Given the description of an element on the screen output the (x, y) to click on. 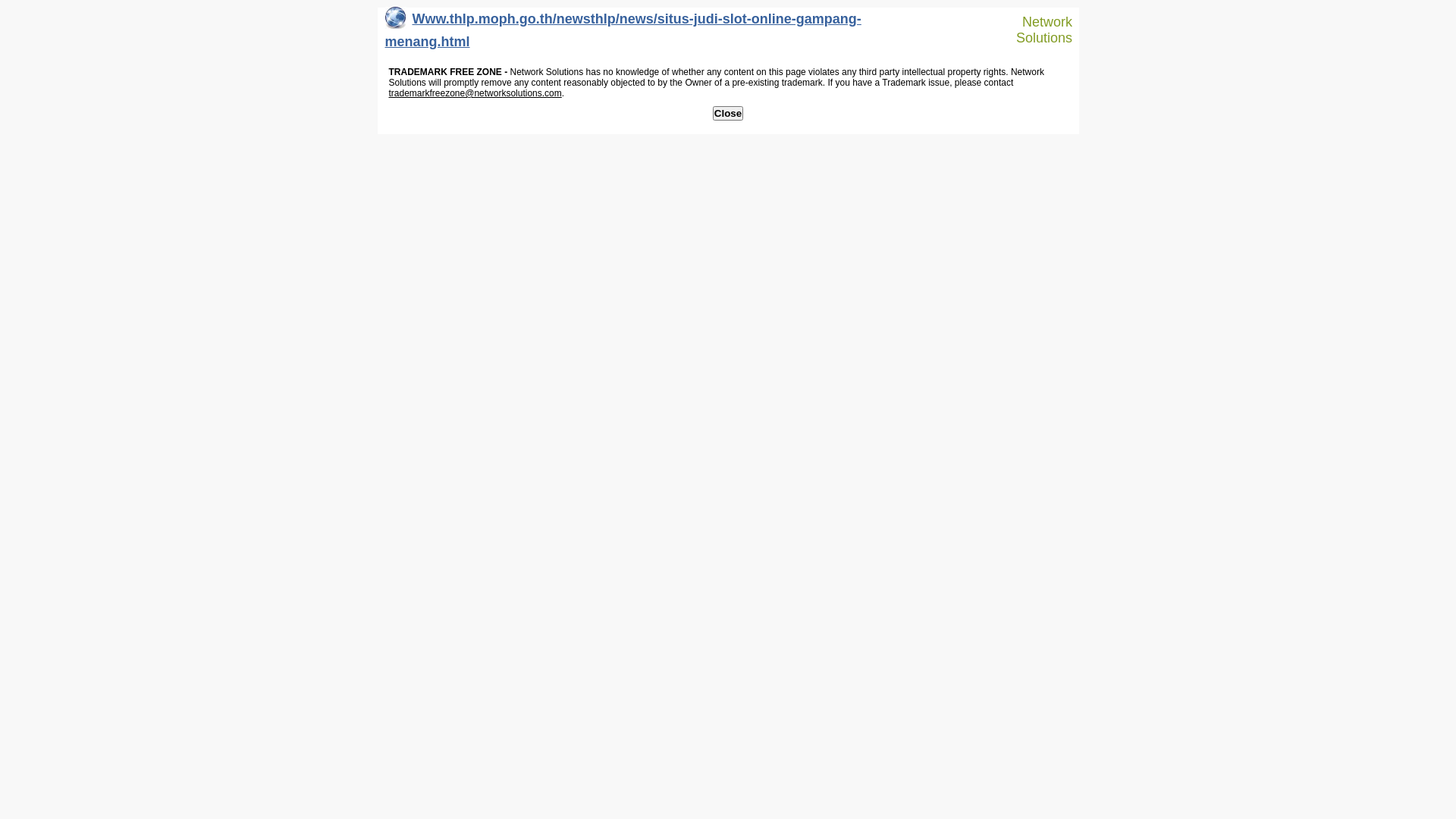
Close Element type: text (727, 113)
trademarkfreezone@networksolutions.com Element type: text (474, 92)
Network Solutions Element type: text (1037, 29)
